Given the description of an element on the screen output the (x, y) to click on. 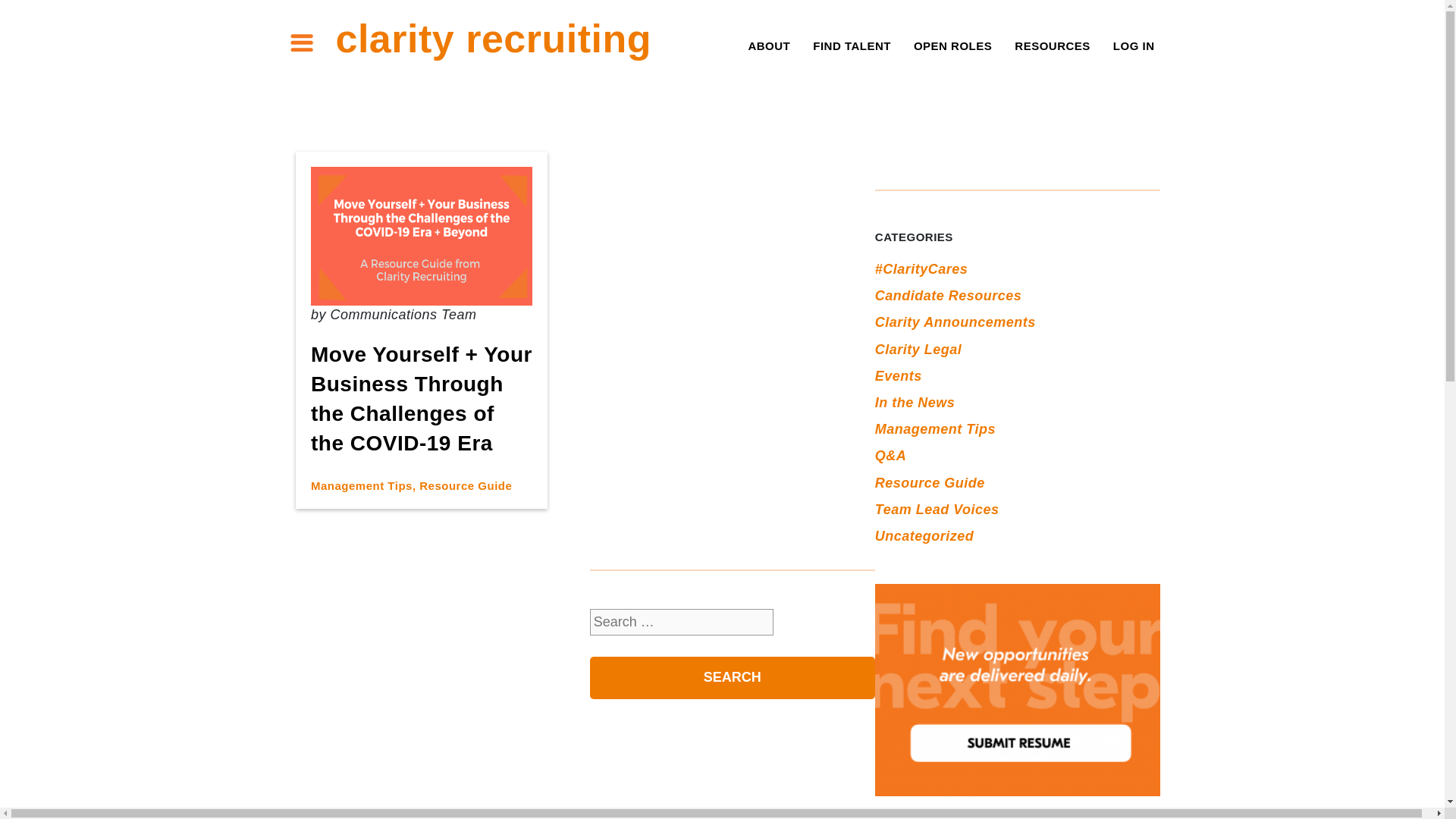
RESOURCES (1052, 45)
Events (898, 376)
clarity recruiting (492, 38)
FIND TALENT (851, 45)
Search (732, 677)
ABOUT (769, 45)
Search (732, 677)
Site Menu (301, 42)
LOG IN (1133, 45)
OPEN ROLES (952, 45)
Clarity Legal (918, 349)
Clarity Announcements (955, 322)
Candidate Resources (948, 295)
